Given the description of an element on the screen output the (x, y) to click on. 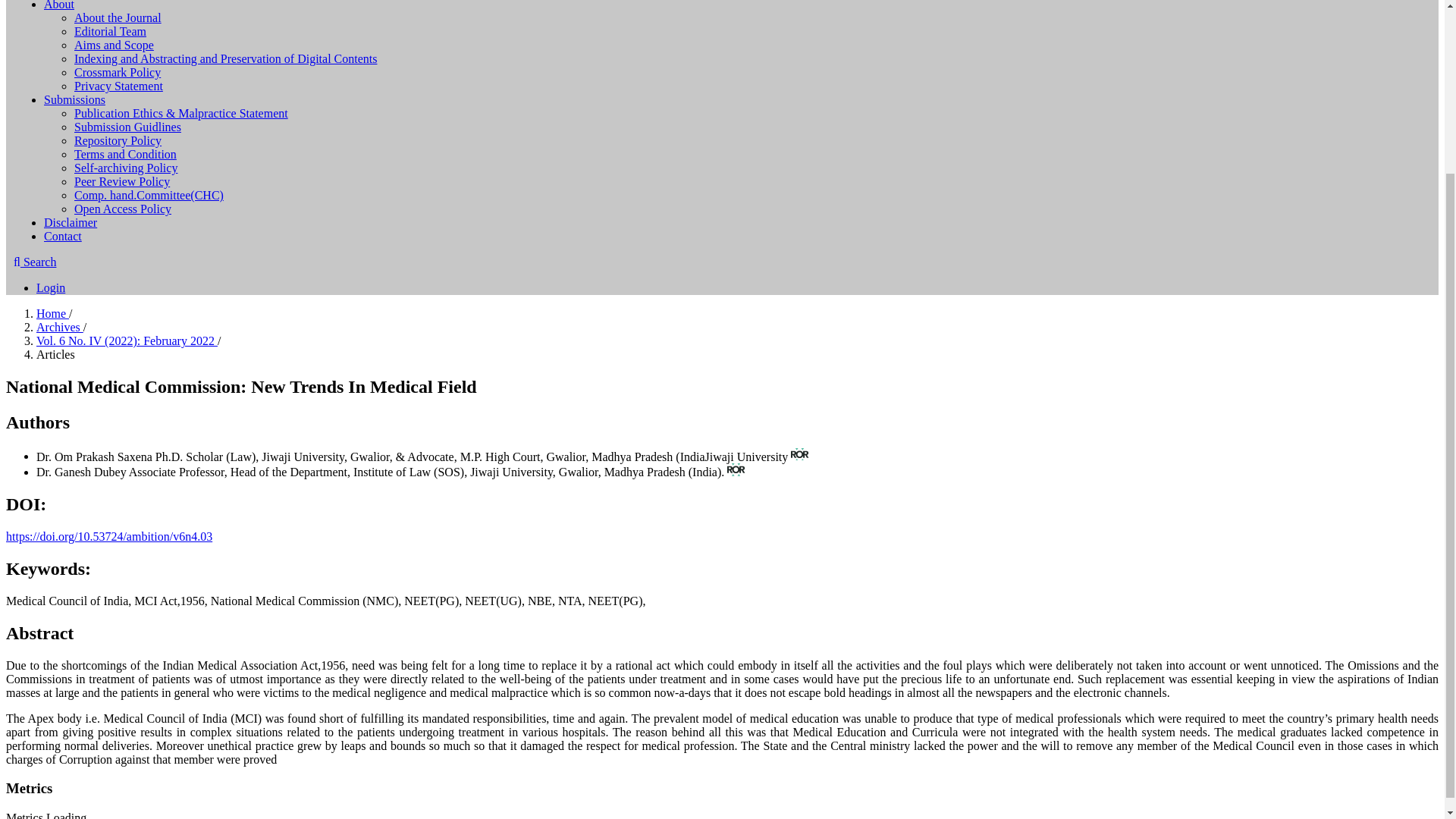
Editorial Team (110, 31)
Login (50, 287)
Submissions (73, 99)
Contact (62, 236)
Self-archiving Policy (125, 167)
Home (52, 313)
Repository Policy (117, 140)
About (58, 5)
Peer Review Policy (122, 181)
Crossmark Policy (117, 72)
Submission Guidlines (127, 126)
About the Journal (117, 17)
Disclaimer (70, 222)
Privacy Statement (118, 85)
